Given the description of an element on the screen output the (x, y) to click on. 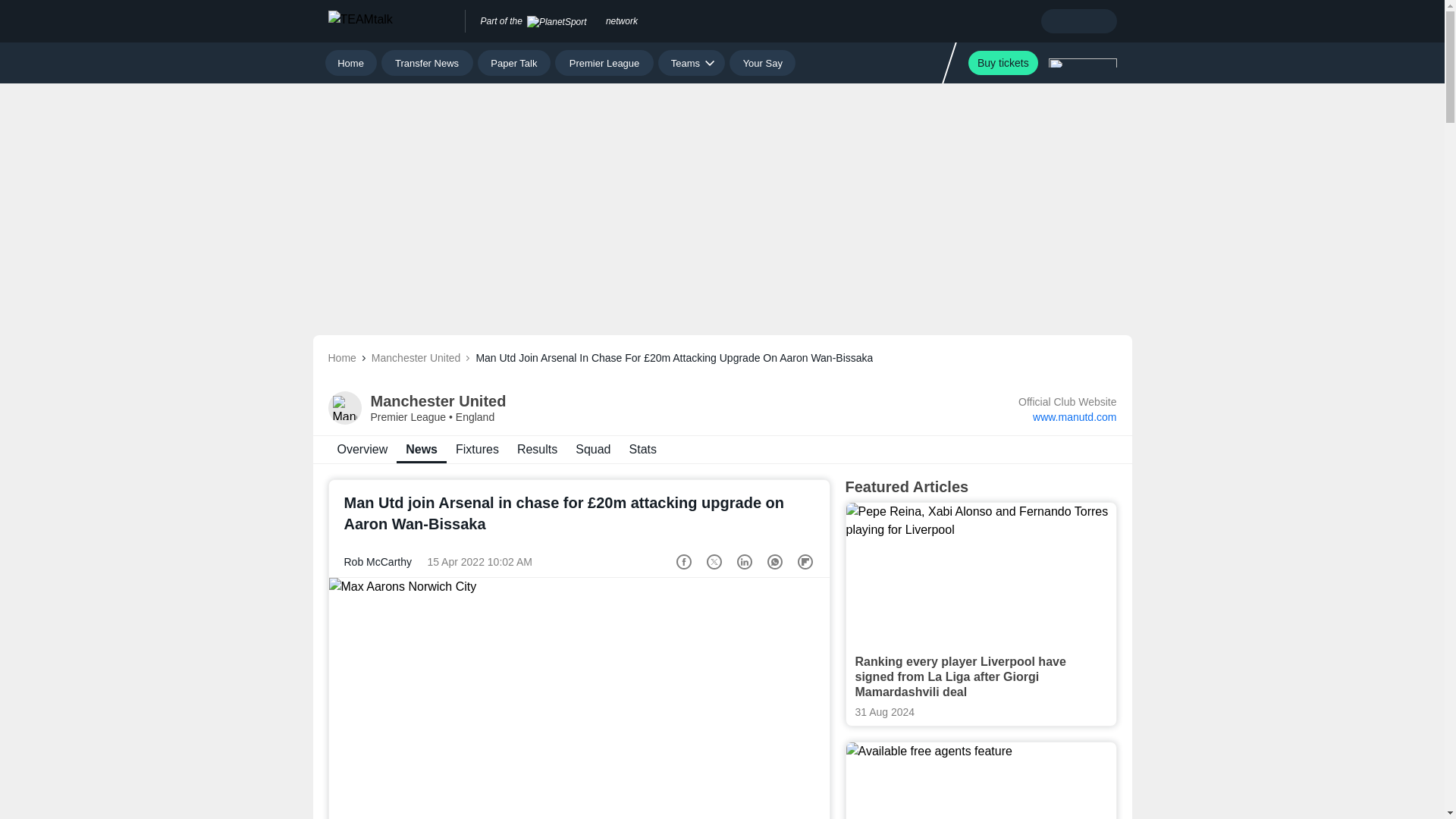
Buy tickets (1003, 62)
Manchester United Squad (593, 449)
Manchester United Transfer News (361, 449)
Transfer News (427, 62)
Max Aarons Norwich City (579, 698)
Posts by Rob McCarthy (377, 562)
Manchester United Results (537, 449)
Teams (691, 62)
Manchester United Fixtures (477, 449)
